Given the description of an element on the screen output the (x, y) to click on. 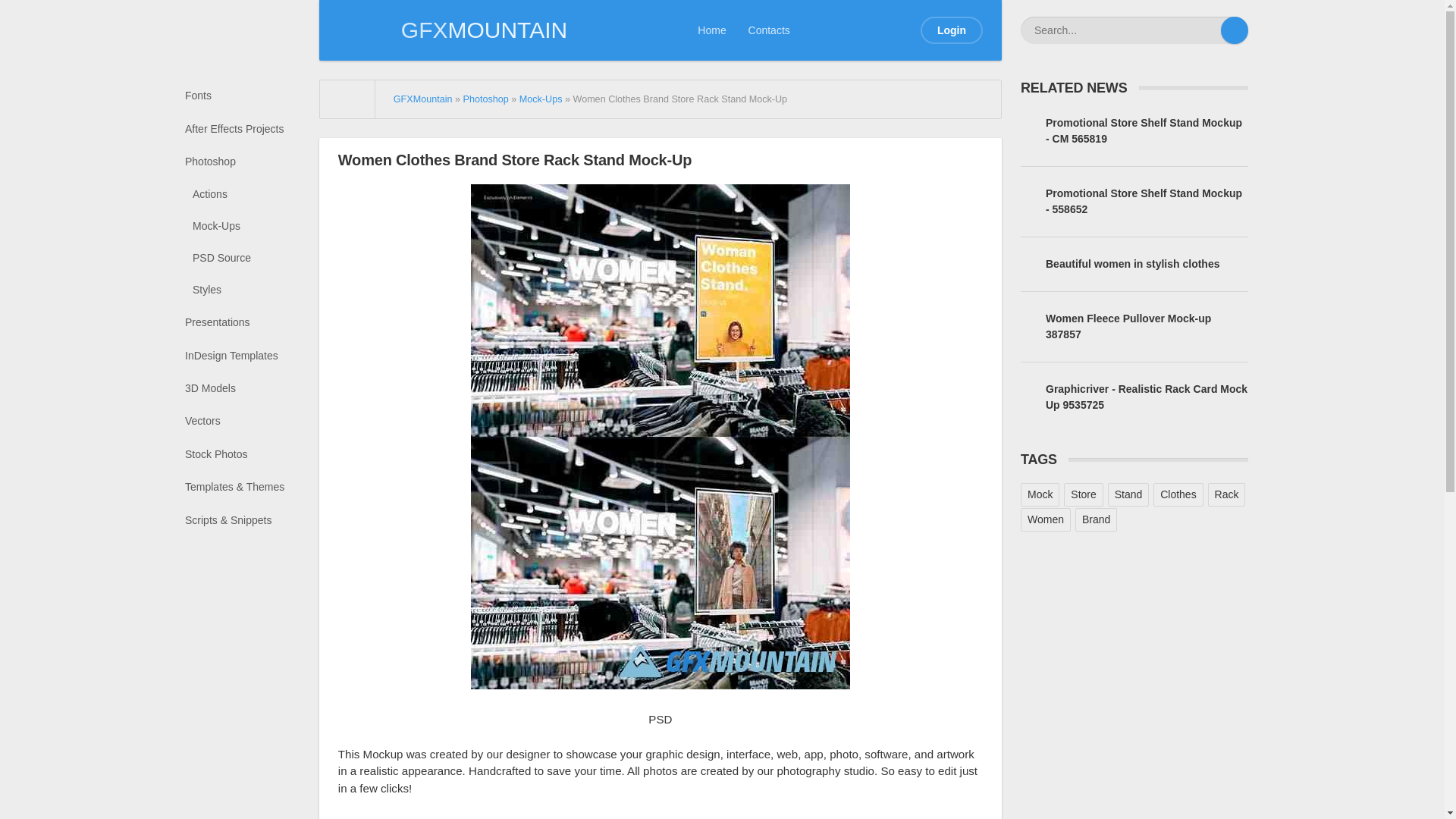
Presentations (247, 322)
After Effects Projects (247, 128)
GFXMOUNTAIN (452, 30)
PSD Source (251, 258)
Contacts (768, 30)
Home (711, 30)
Styles (251, 290)
Extended Search (1207, 30)
Mock-Ups (540, 99)
Find (1234, 30)
Photoshop (247, 161)
Stock Photos (247, 454)
3D Models (247, 388)
Promotional Store Shelf Stand Mockup -  558652 (1133, 202)
Vectors (247, 420)
